Given the description of an element on the screen output the (x, y) to click on. 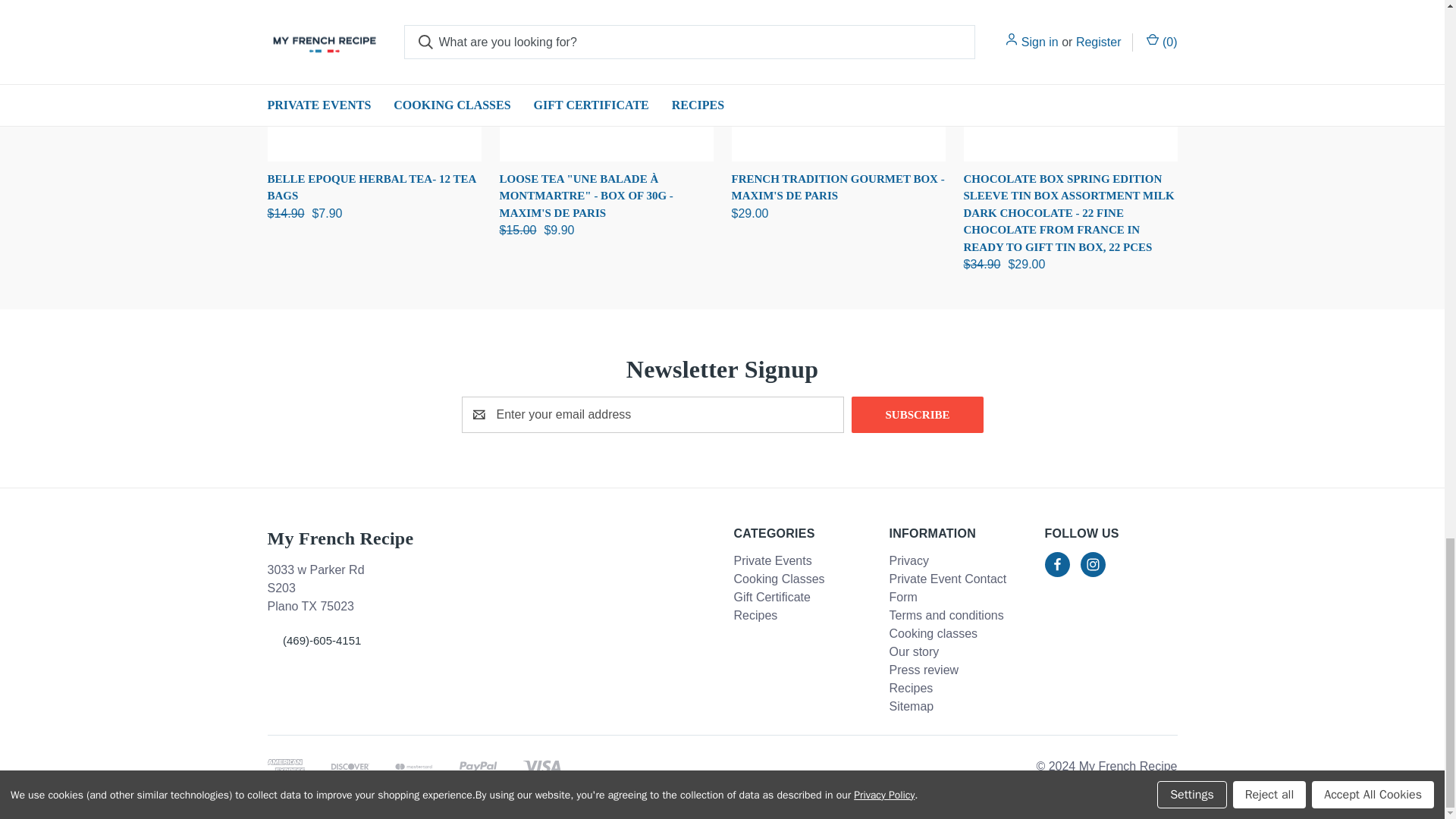
Belle epoque tea (373, 78)
French tradition gourmet box - Maxim's de Paris (837, 78)
Subscribe (916, 414)
